Given the description of an element on the screen output the (x, y) to click on. 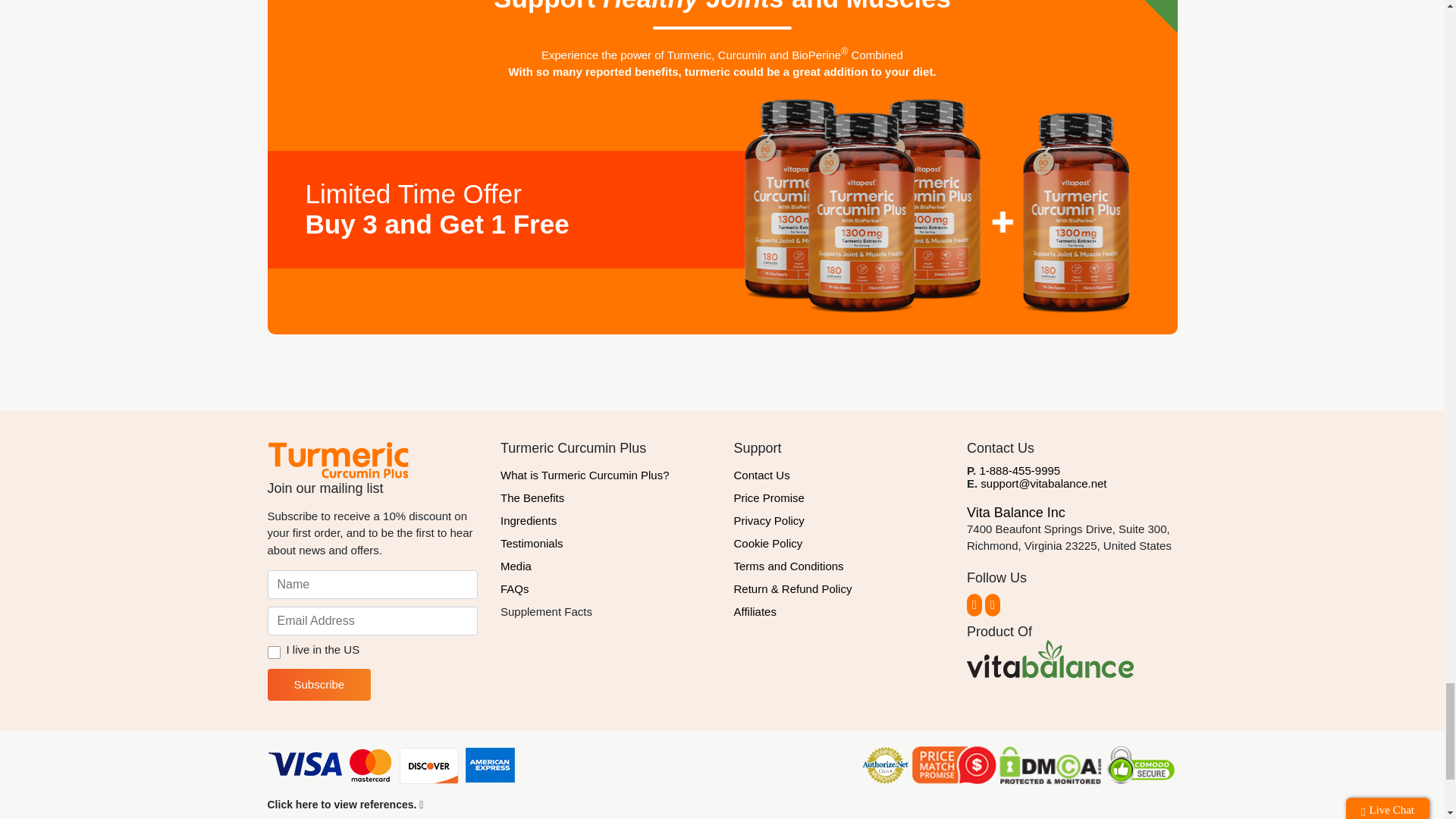
Vita Balance Official Logo (1050, 658)
Ingredients (605, 520)
Contact Us (838, 475)
What is Turmeric Curcumin Plus? (605, 475)
DMCA.com Protection Status (1049, 766)
Turmeric Curcumin Plus Official Logo (336, 459)
Price Promise (838, 497)
The Benefits (605, 497)
Subscribe (318, 685)
Media (605, 566)
Testimonials (605, 543)
FAQs (605, 589)
